Given the description of an element on the screen output the (x, y) to click on. 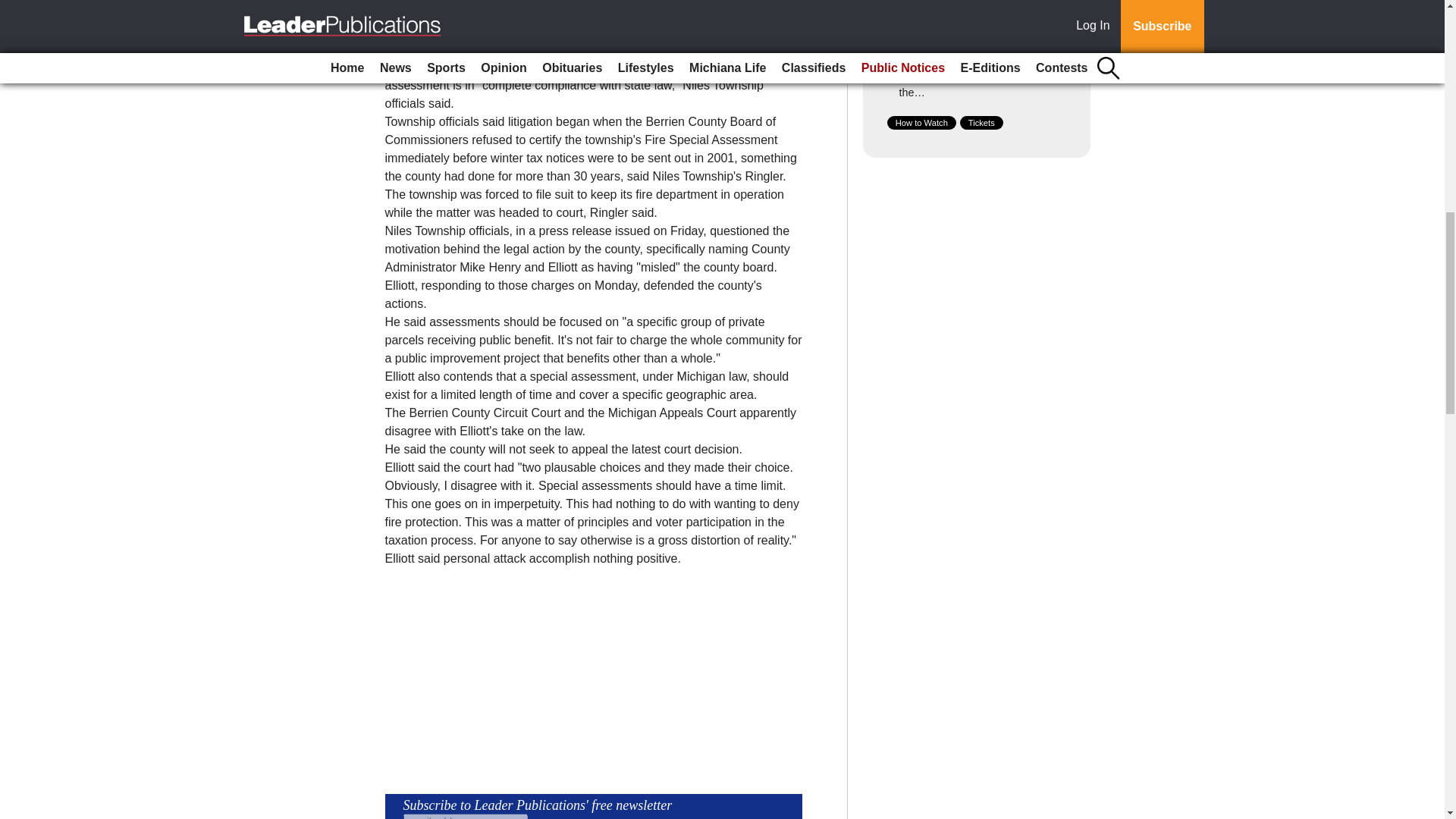
How to Watch (921, 122)
Tickets (981, 122)
